Given the description of an element on the screen output the (x, y) to click on. 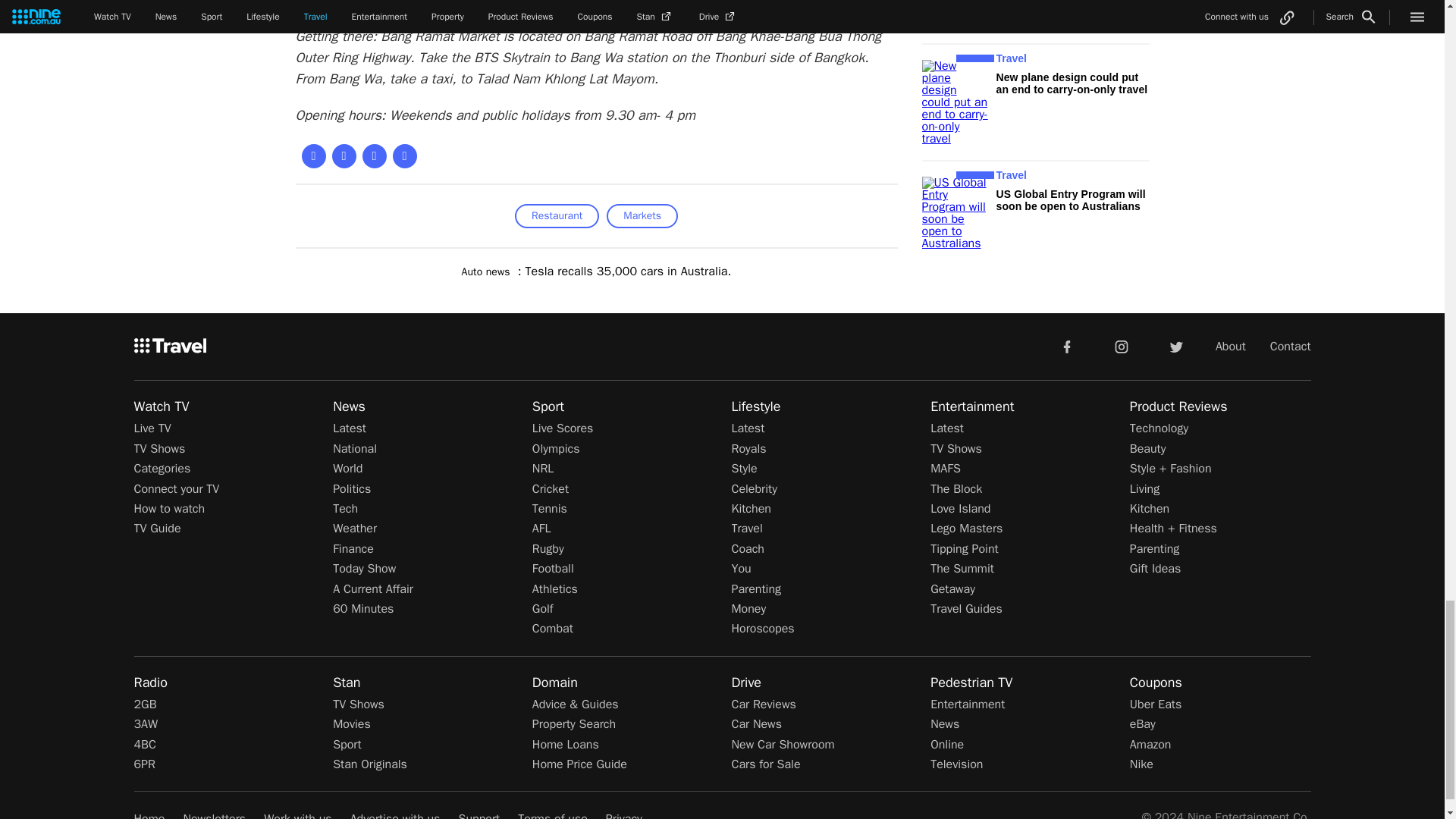
facebook (1066, 346)
twitter (1175, 346)
instagram (1121, 346)
